Given the description of an element on the screen output the (x, y) to click on. 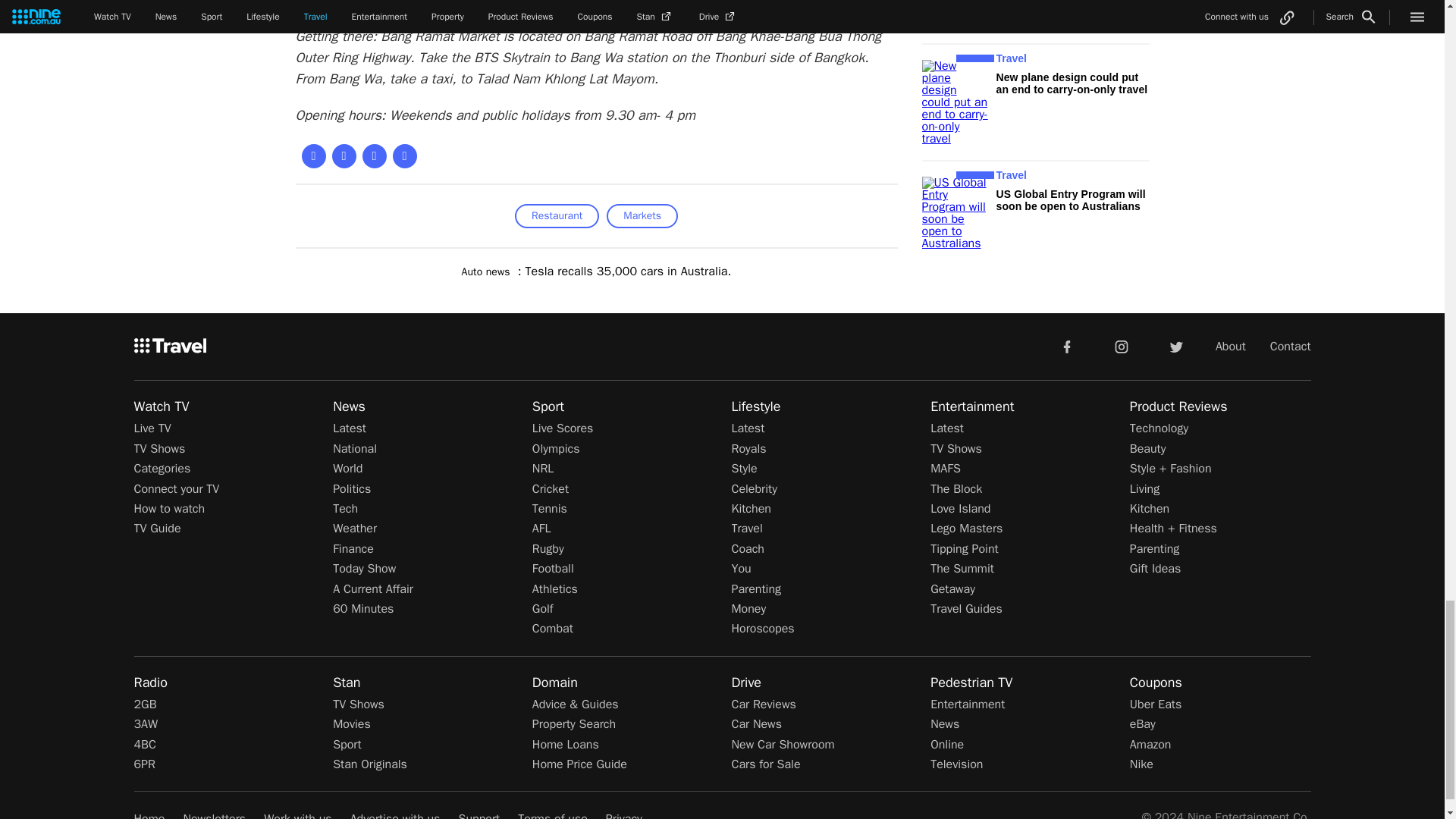
facebook (1066, 346)
twitter (1175, 346)
instagram (1121, 346)
